Given the description of an element on the screen output the (x, y) to click on. 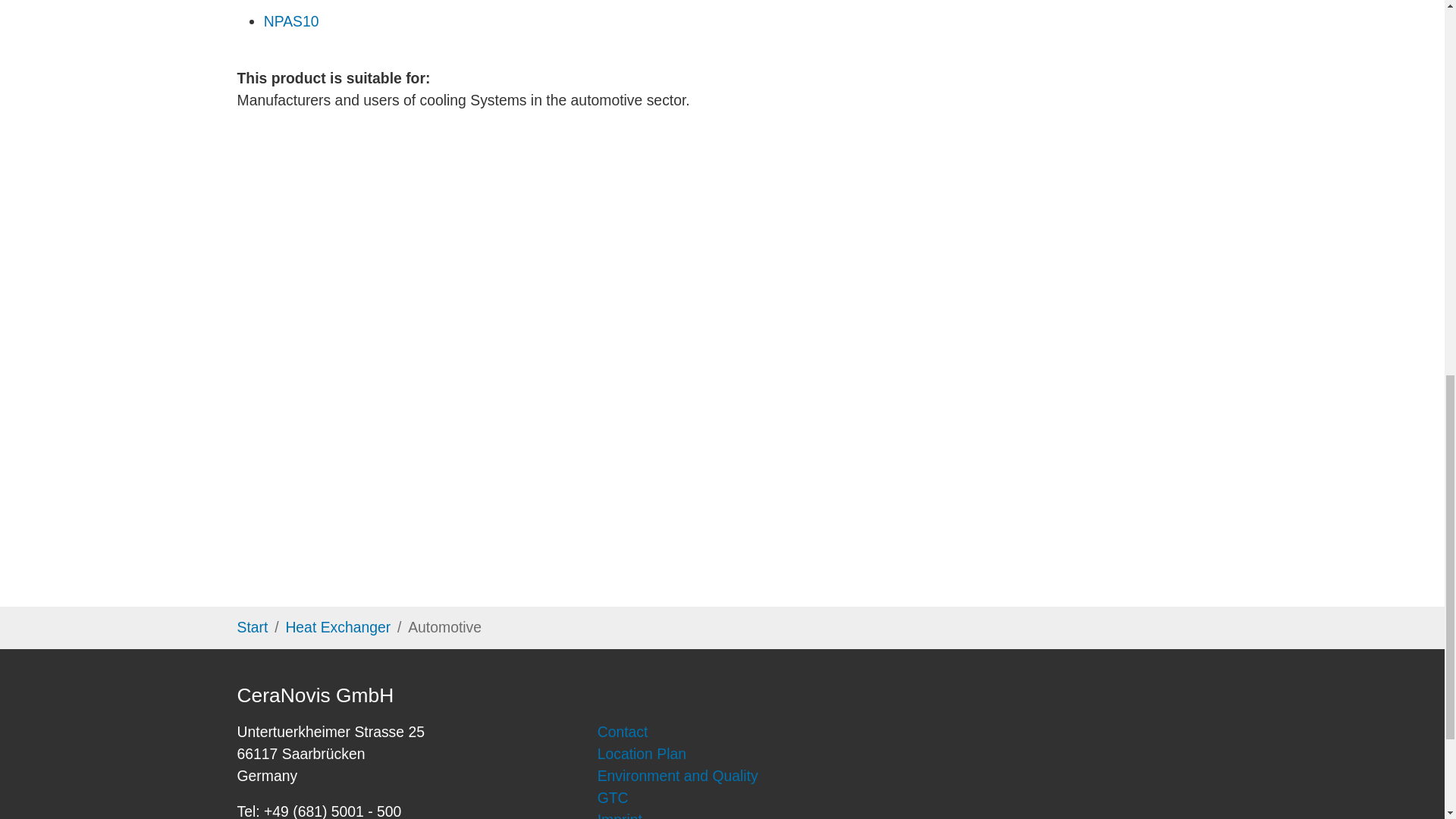
NPAS10 (290, 21)
Start (251, 627)
Heat Exchanger (337, 627)
